Given the description of an element on the screen output the (x, y) to click on. 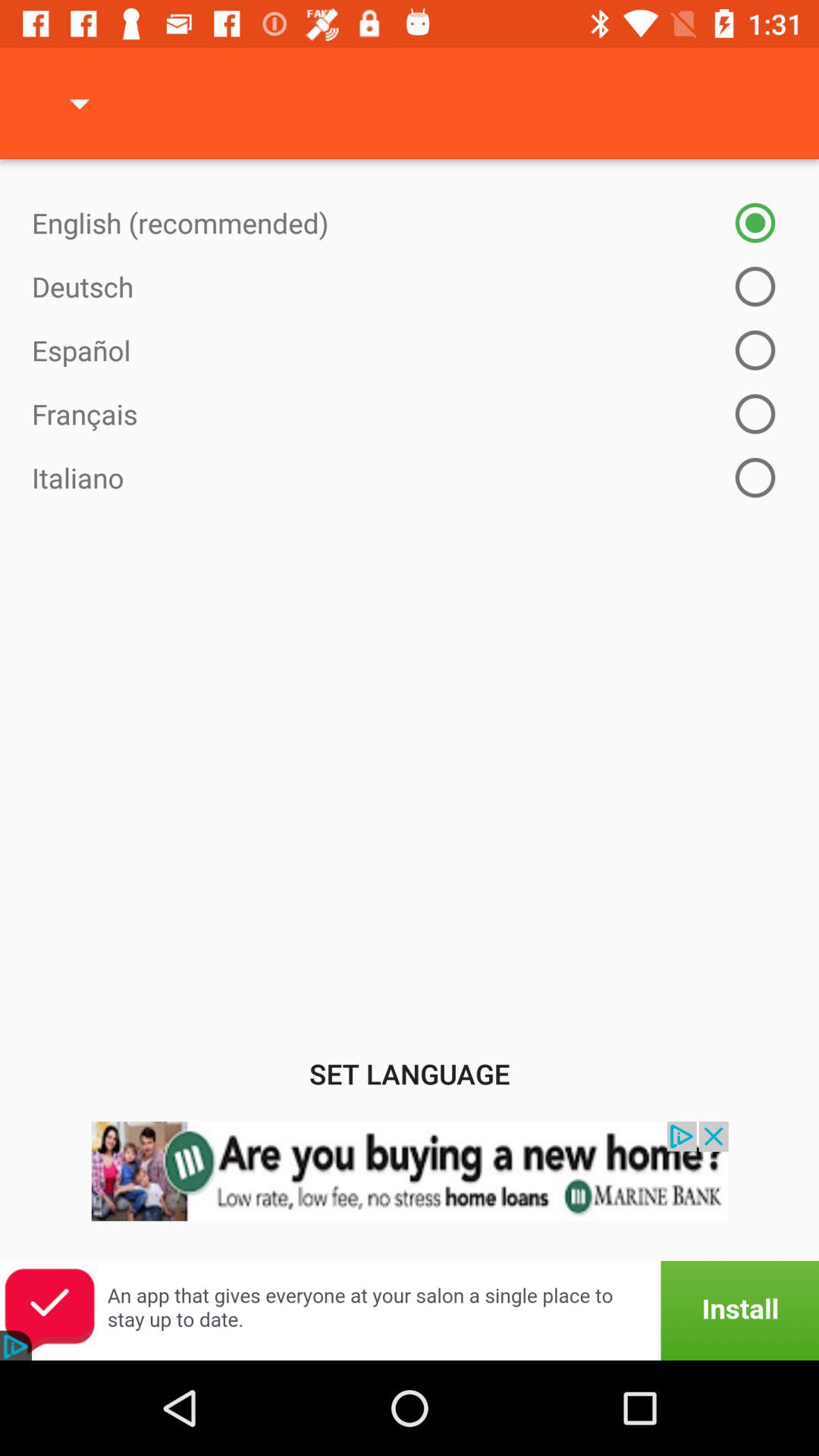
advertisement page (409, 1310)
